Given the description of an element on the screen output the (x, y) to click on. 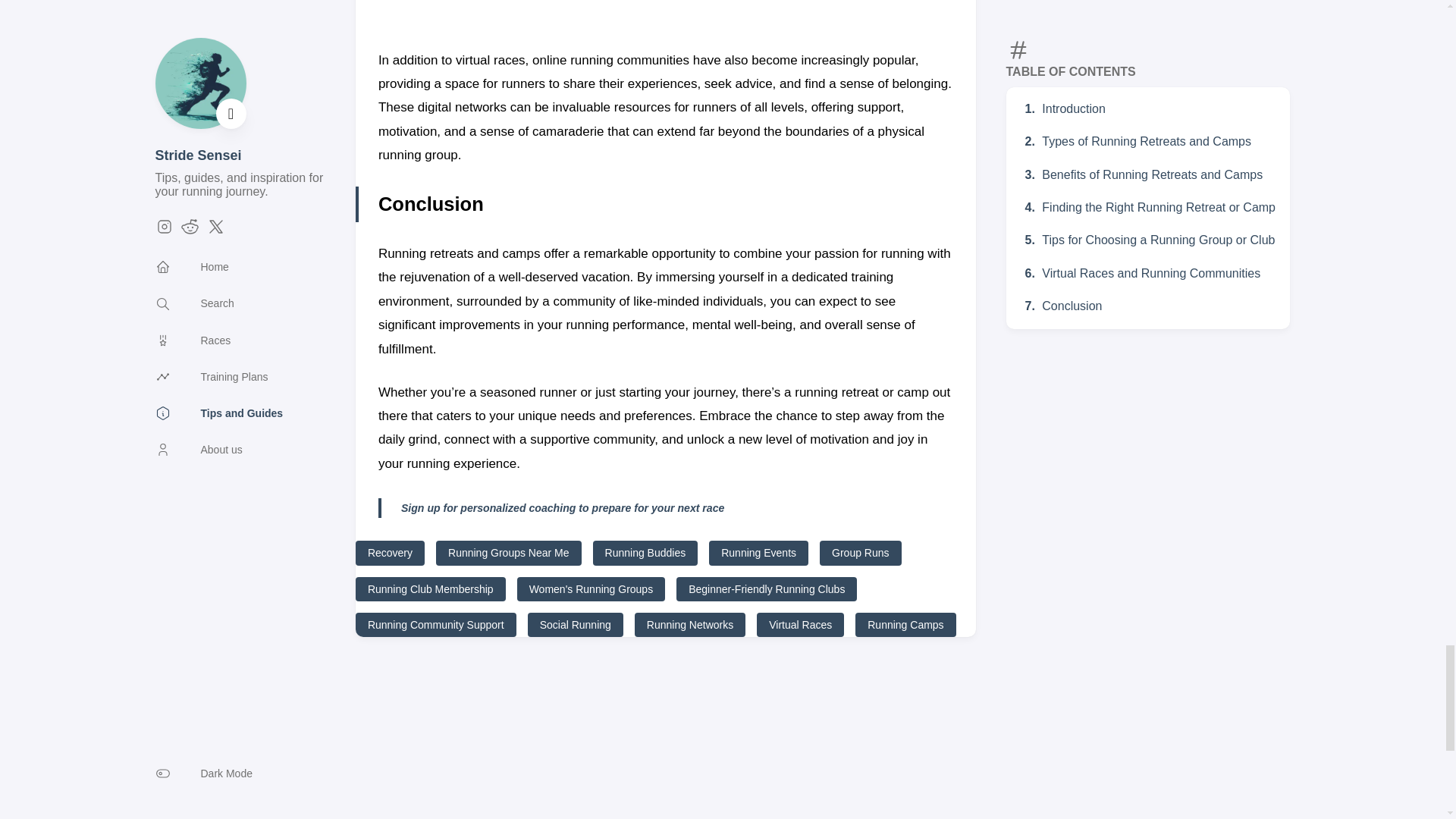
Running Community Support (435, 624)
Virtual Races (800, 624)
Running Camps (905, 624)
Running Events (758, 552)
Running Buddies (645, 552)
Running Groups Near Me (507, 552)
Social Running (575, 624)
Running Club Membership (430, 589)
Group Runs (860, 552)
